Given the description of an element on the screen output the (x, y) to click on. 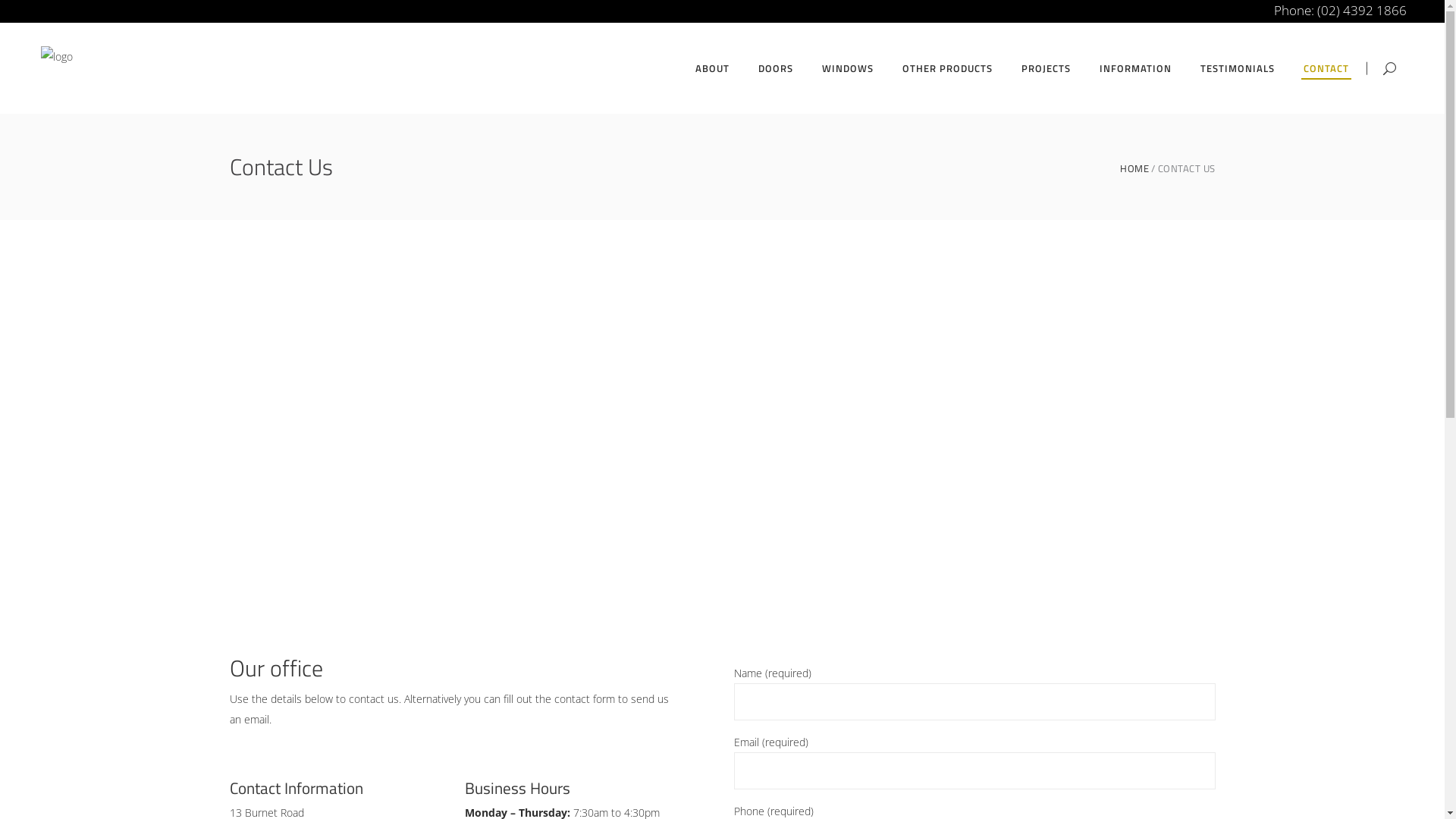
HOME Element type: text (1134, 168)
TESTIMONIALS Element type: text (1237, 67)
ABOUT Element type: text (711, 67)
OTHER PRODUCTS Element type: text (947, 67)
INFORMATION Element type: text (1135, 67)
PROJECTS Element type: text (1046, 67)
CONTACT Element type: text (1326, 67)
DOORS Element type: text (775, 67)
WINDOWS Element type: text (847, 67)
